Given the description of an element on the screen output the (x, y) to click on. 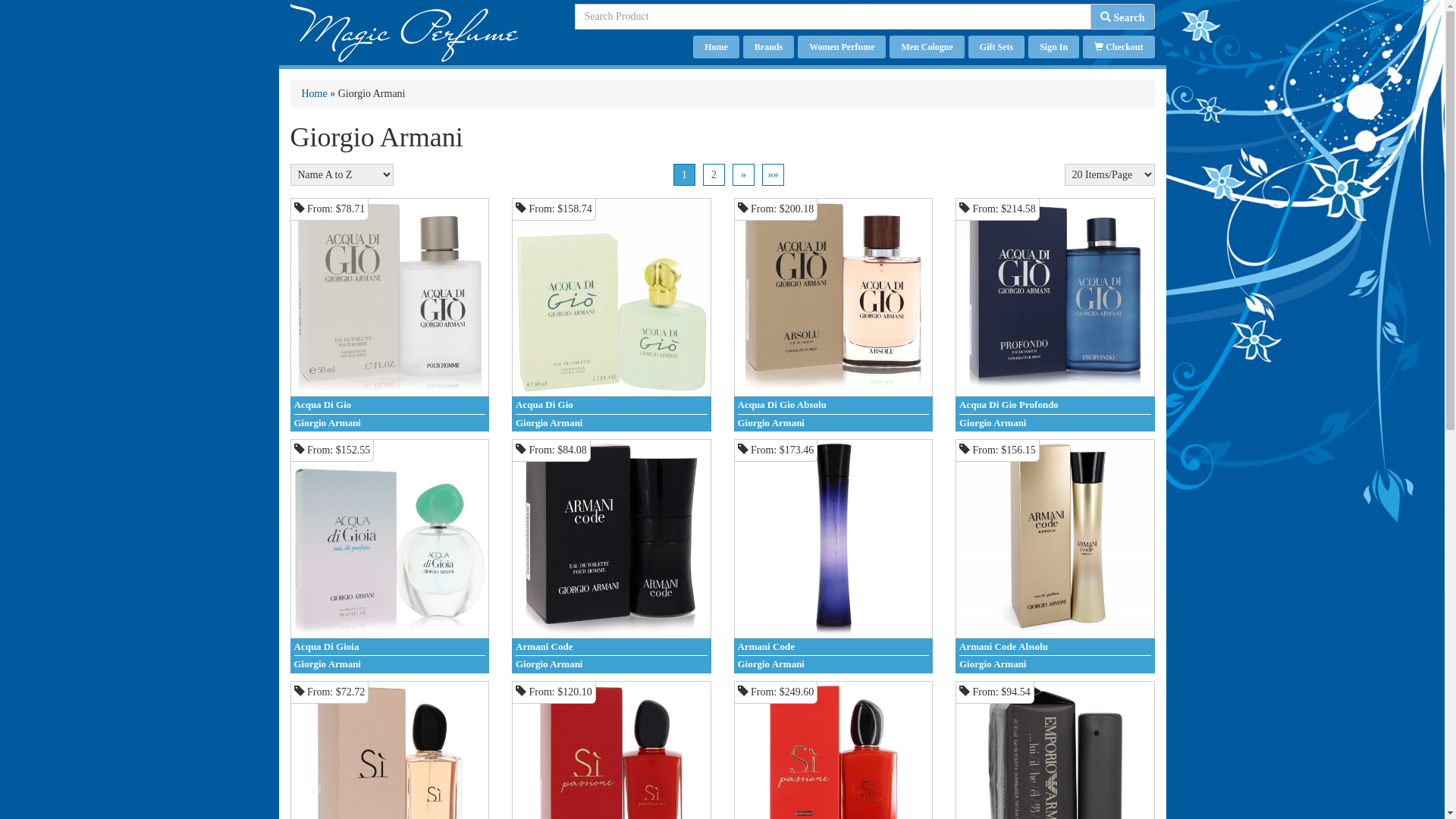
Acqua Di Gio Element type: text (611, 405)
From: $152.55 Element type: text (390, 538)
Brands Element type: text (768, 46)
From: $84.08 Element type: text (611, 538)
Magic Perfume Home Element type: hover (403, 31)
Armani Code Element type: text (832, 647)
From: $200.18 Element type: text (832, 297)
Armani Code Absolu Element type: text (1055, 647)
Home Element type: text (716, 46)
From: $173.46 Element type: text (832, 538)
Gift Sets Element type: text (996, 46)
Acqua Di Gio Profondo Element type: text (1055, 405)
Acqua Di Gio Absolu Element type: text (832, 405)
Acqua Di Gioia Element type: text (390, 647)
Women Perfume Element type: text (841, 46)
Giorgio Armani Element type: text (1055, 423)
Giorgio Armani Element type: text (611, 423)
From: $156.15 Element type: text (1055, 538)
Giorgio Armani Element type: text (390, 423)
2 Element type: text (713, 174)
Acqua Di Gio Element type: text (390, 405)
Giorgio Armani Element type: text (611, 664)
Checkout Element type: text (1118, 46)
From: $78.71 Element type: text (390, 297)
From: $158.74 Element type: text (611, 297)
Sign In Element type: text (1053, 46)
sort Element type: text (12, 11)
Giorgio Armani Element type: text (1055, 664)
Search Element type: text (1122, 16)
Men Cologne Element type: text (926, 46)
Giorgio Armani Element type: text (832, 664)
Skip to main content Element type: text (43, 0)
Giorgio Armani Element type: text (832, 423)
From: $214.58 Element type: text (1055, 297)
Armani Code Element type: text (611, 647)
Giorgio Armani Element type: text (390, 664)
1 Element type: text (684, 174)
Home Element type: text (314, 93)
